Given the description of an element on the screen output the (x, y) to click on. 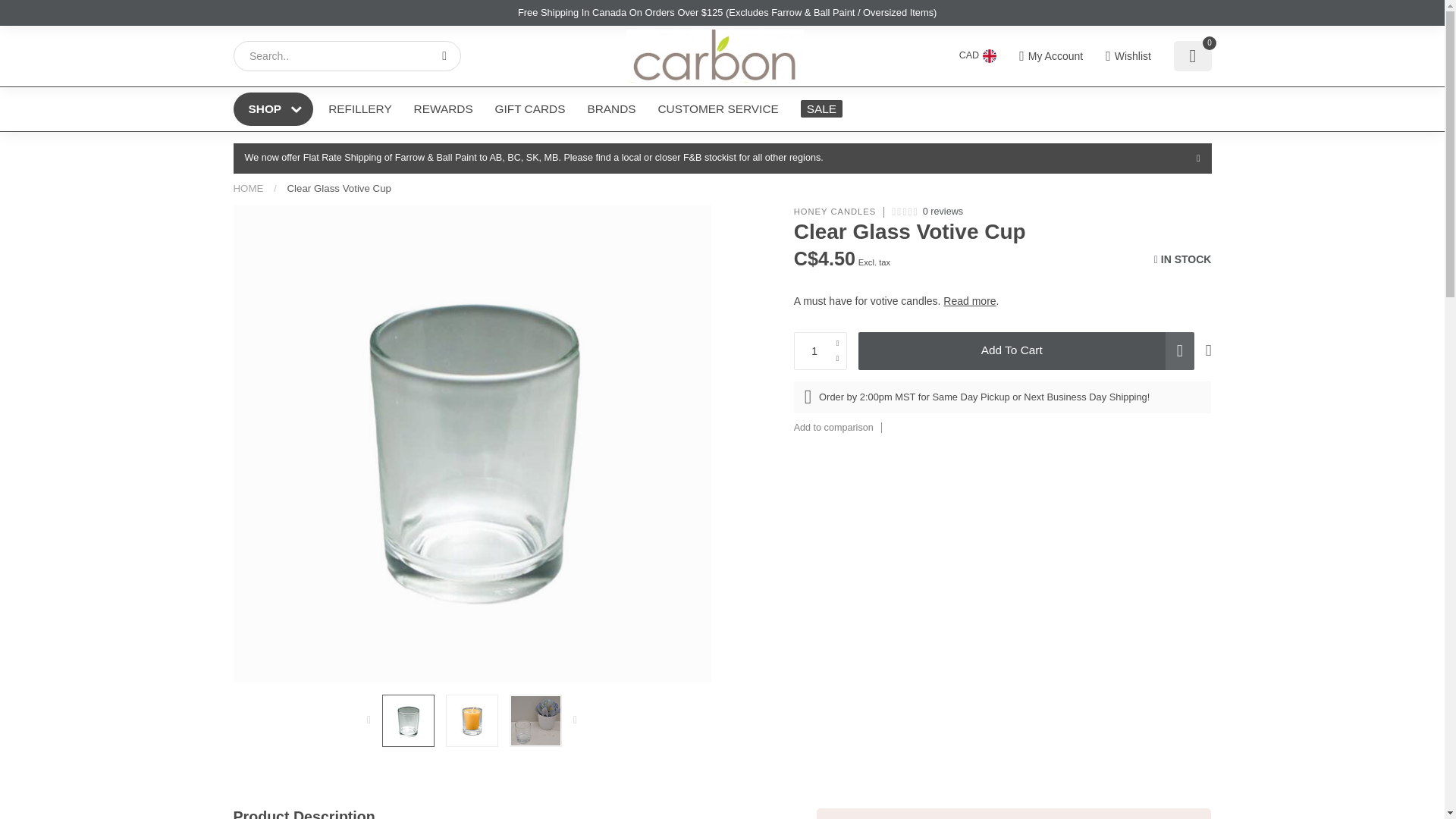
My Account (1051, 55)
0 (1192, 55)
Wishlist (1128, 55)
1 (1060, 244)
HOME (247, 188)
1 (820, 351)
REFILLERY REWARDS GIFT CARDS BRANDS CUSTOMER SERVICE SALE (764, 108)
Wishlist (1128, 55)
